Given the description of an element on the screen output the (x, y) to click on. 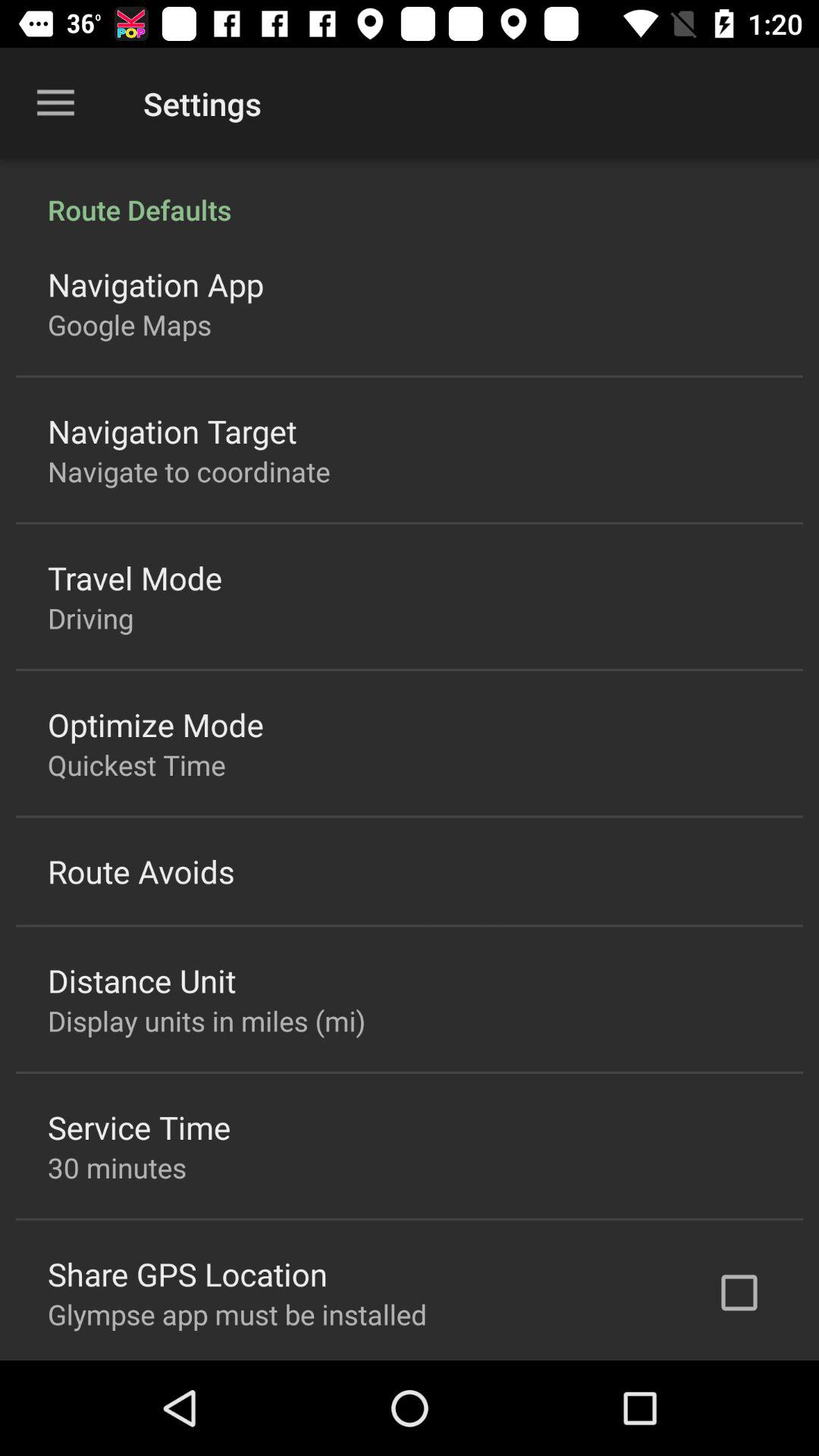
turn off icon to the left of settings icon (55, 103)
